Given the description of an element on the screen output the (x, y) to click on. 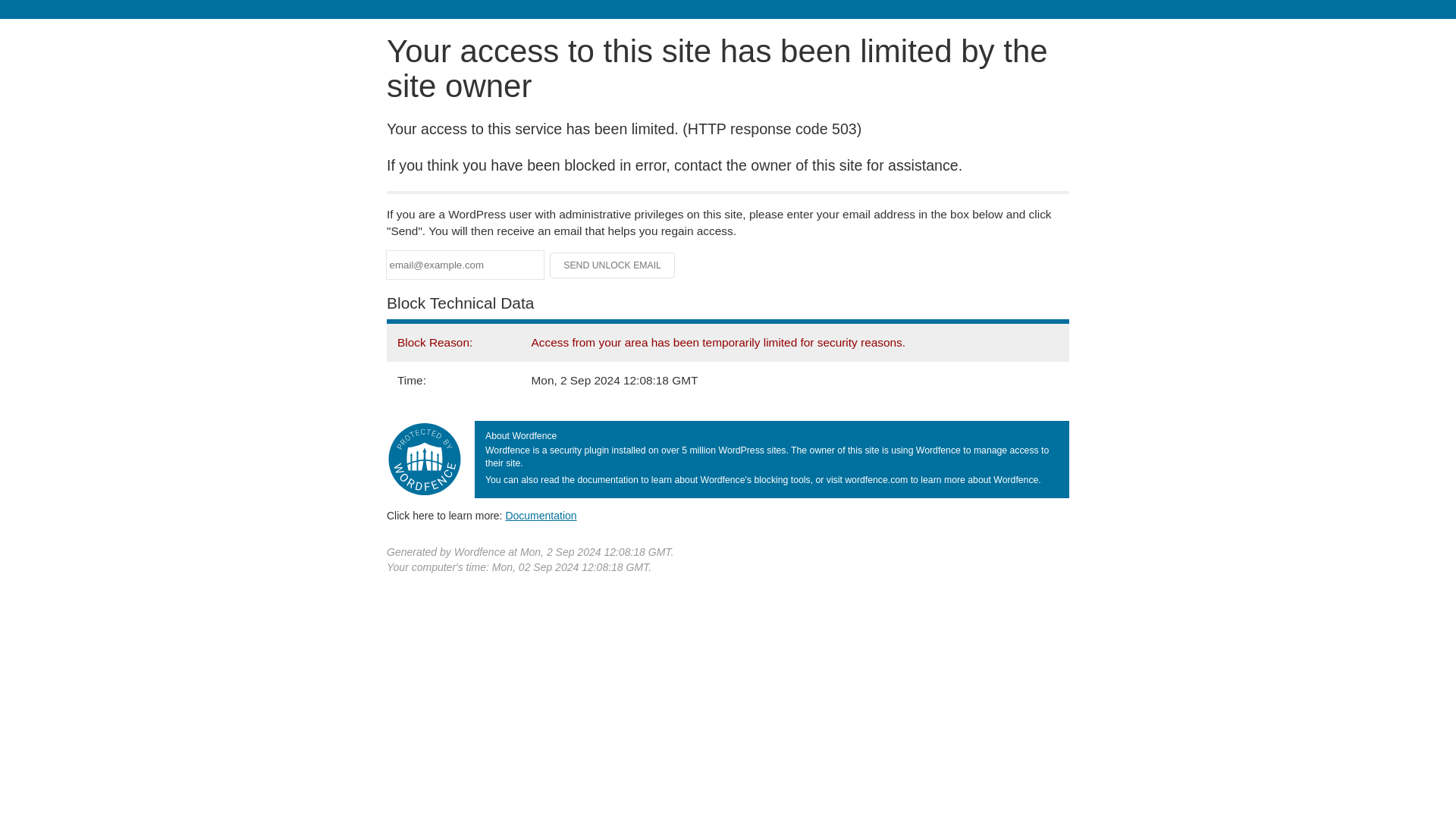
Documentation (540, 515)
Send Unlock Email (612, 265)
Send Unlock Email (612, 265)
